Given the description of an element on the screen output the (x, y) to click on. 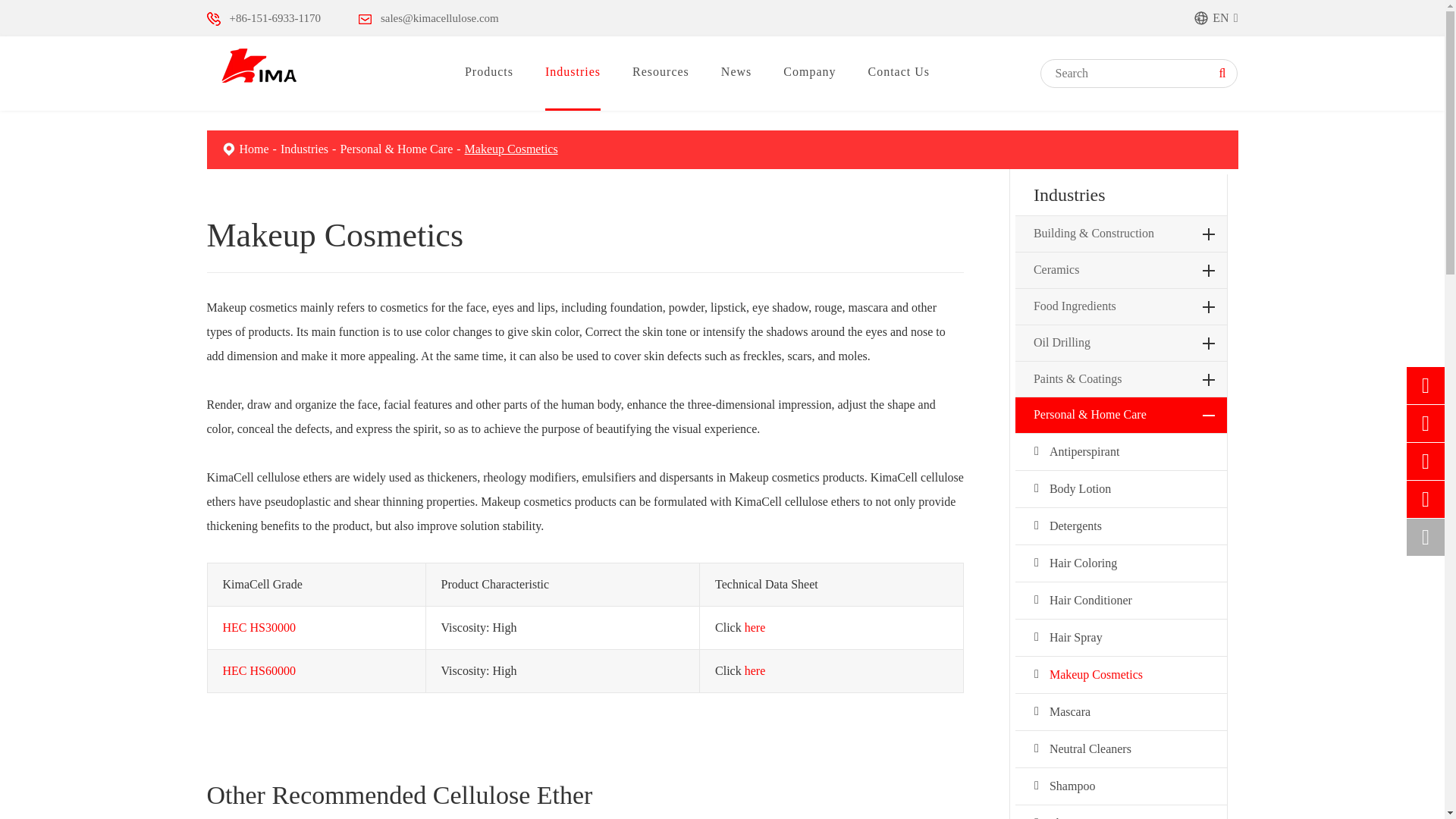
Contact Us (364, 19)
KIMA CHEMICAL CO.,LTD. (257, 64)
Makeup Cosmetics (510, 148)
Industries (305, 148)
Contact Us (212, 18)
Contact Us (1200, 18)
Makeup Cosmetics (228, 148)
